Given the description of an element on the screen output the (x, y) to click on. 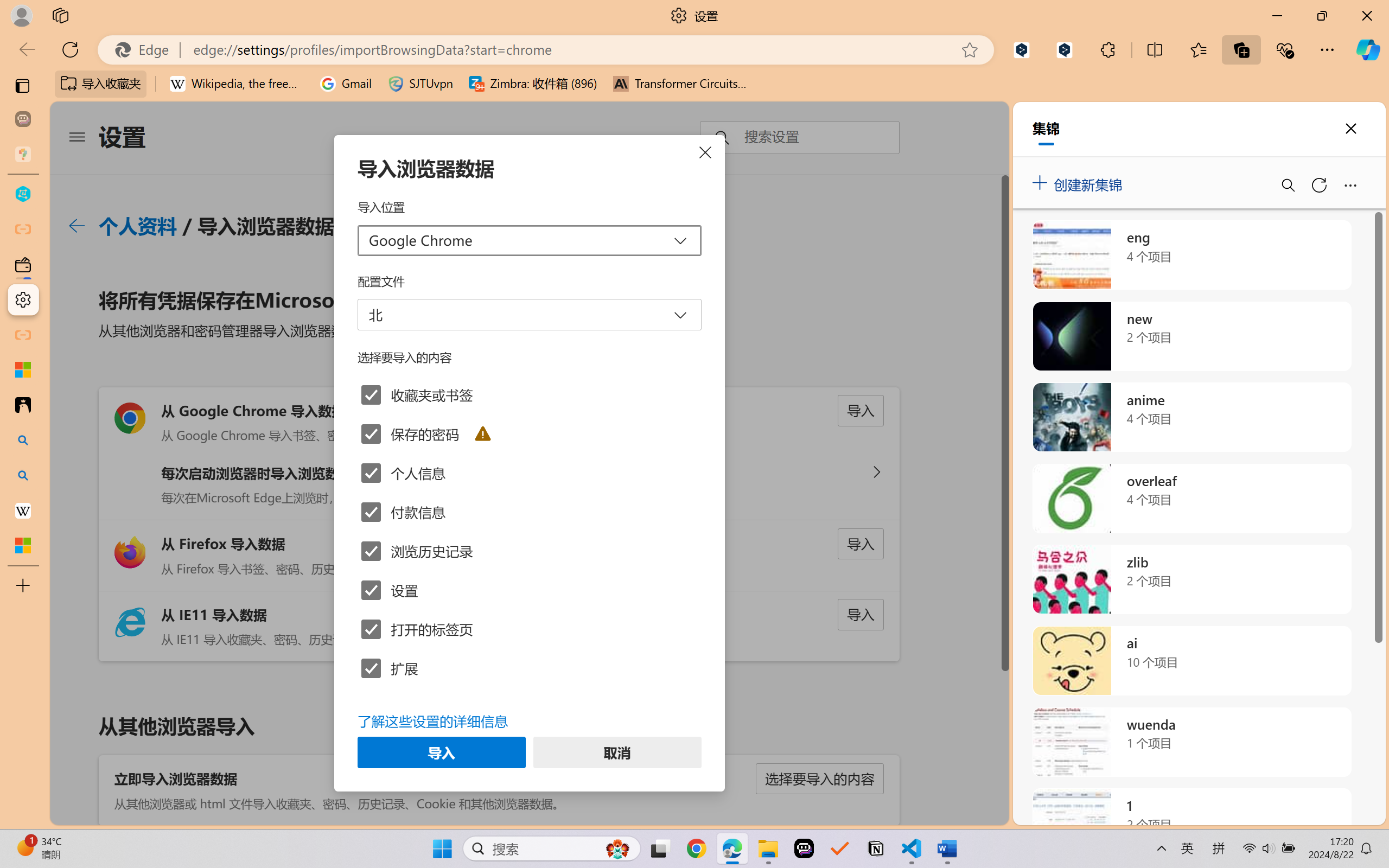
SJTUvpn (419, 83)
Transformer Circuits Thread (680, 83)
Earth - Wikipedia (22, 510)
